Given the description of an element on the screen output the (x, y) to click on. 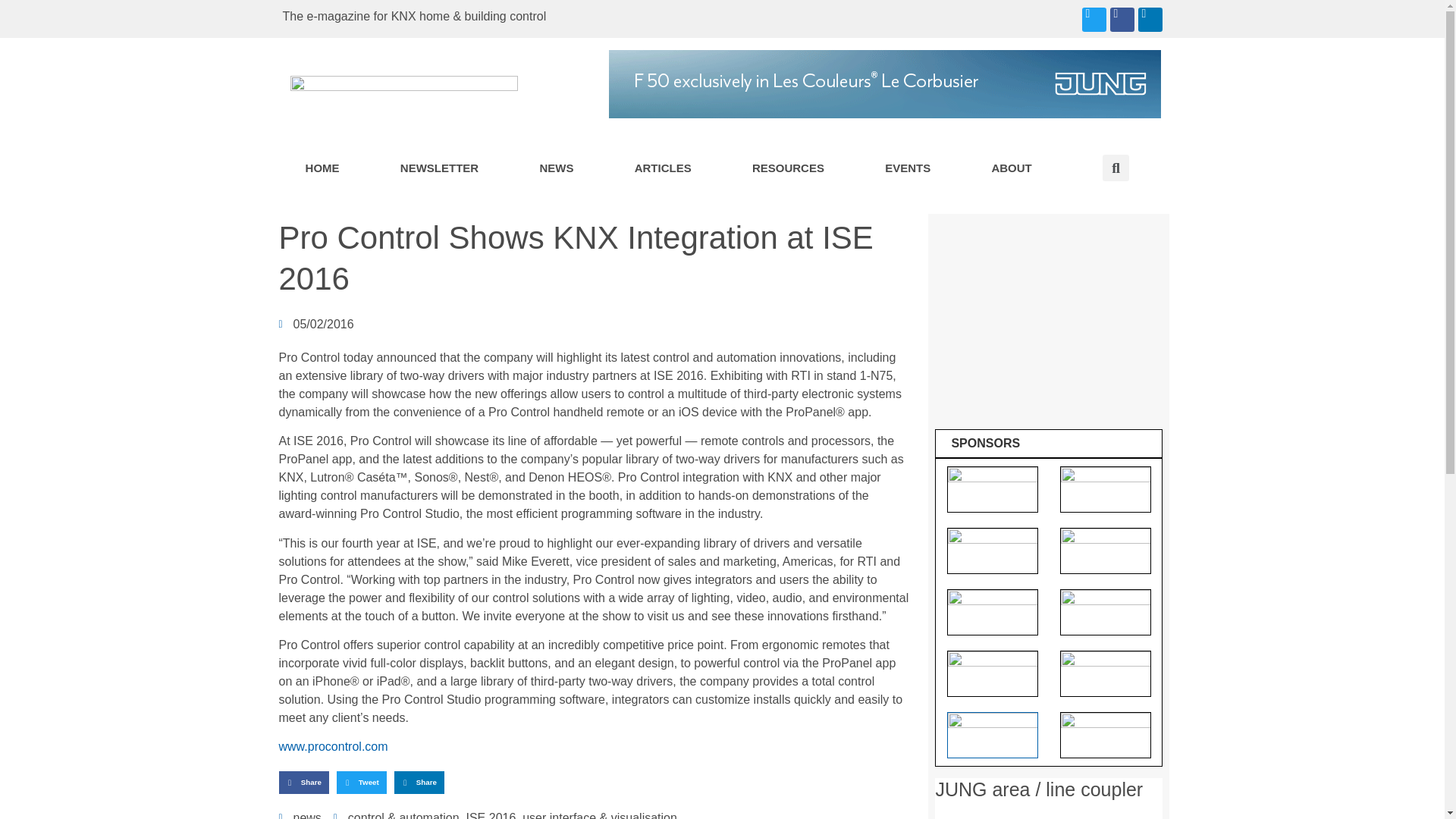
ABOUT (1011, 167)
NEWS (556, 167)
HOME (322, 167)
ARTICLES (663, 167)
ISE 2016 (490, 815)
NEWSLETTER (439, 167)
EVENTS (907, 167)
news (306, 815)
www.procontrol.com (333, 746)
RESOURCES (788, 167)
